Given the description of an element on the screen output the (x, y) to click on. 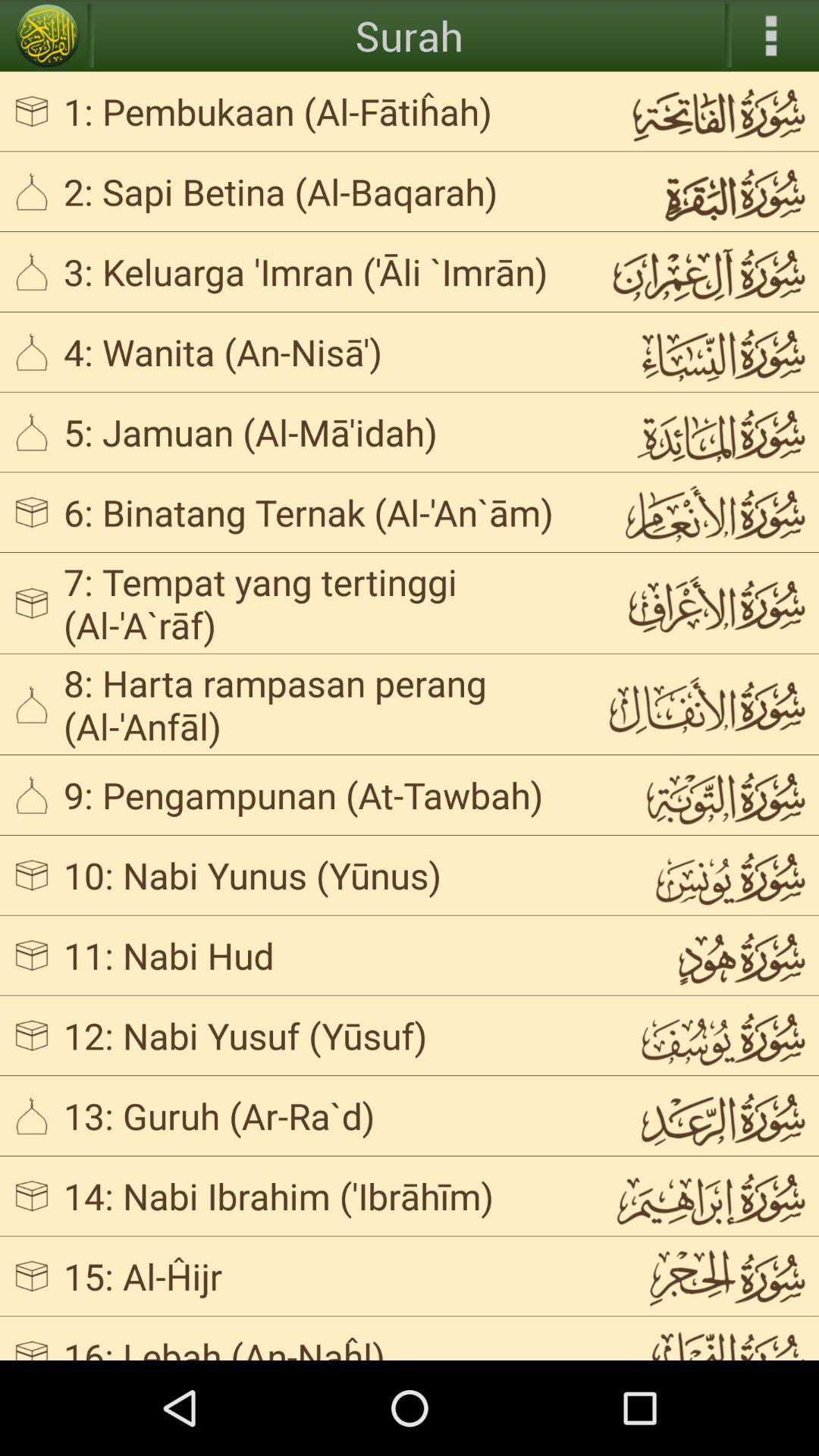
flip to the 8 harta rampasan icon (322, 704)
